Given the description of an element on the screen output the (x, y) to click on. 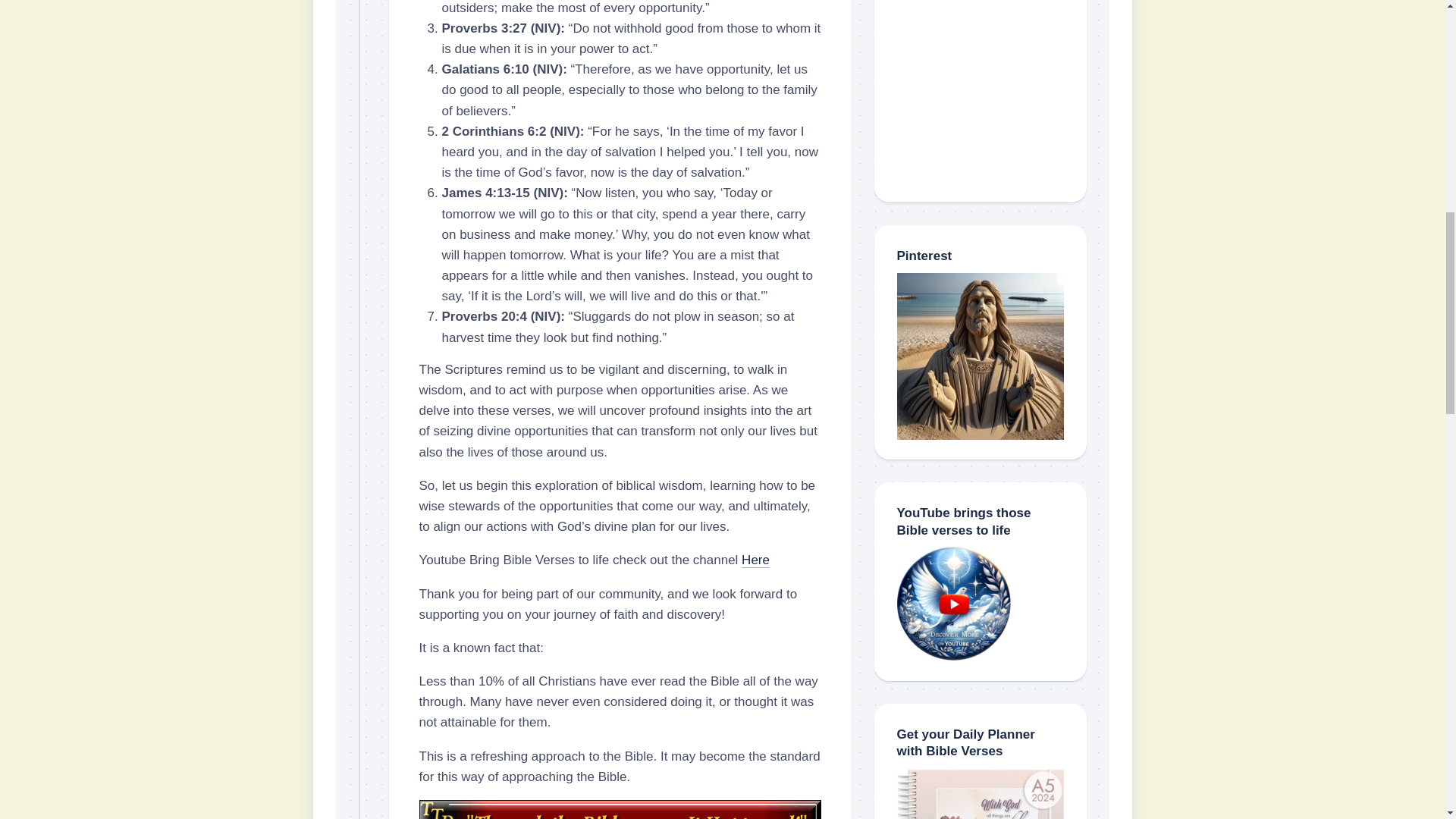
Pinterest (979, 355)
YouTube brings those Bible verses to life (953, 603)
Get your Daily Planner with Bible Verses (979, 793)
Here (755, 559)
